Given the description of an element on the screen output the (x, y) to click on. 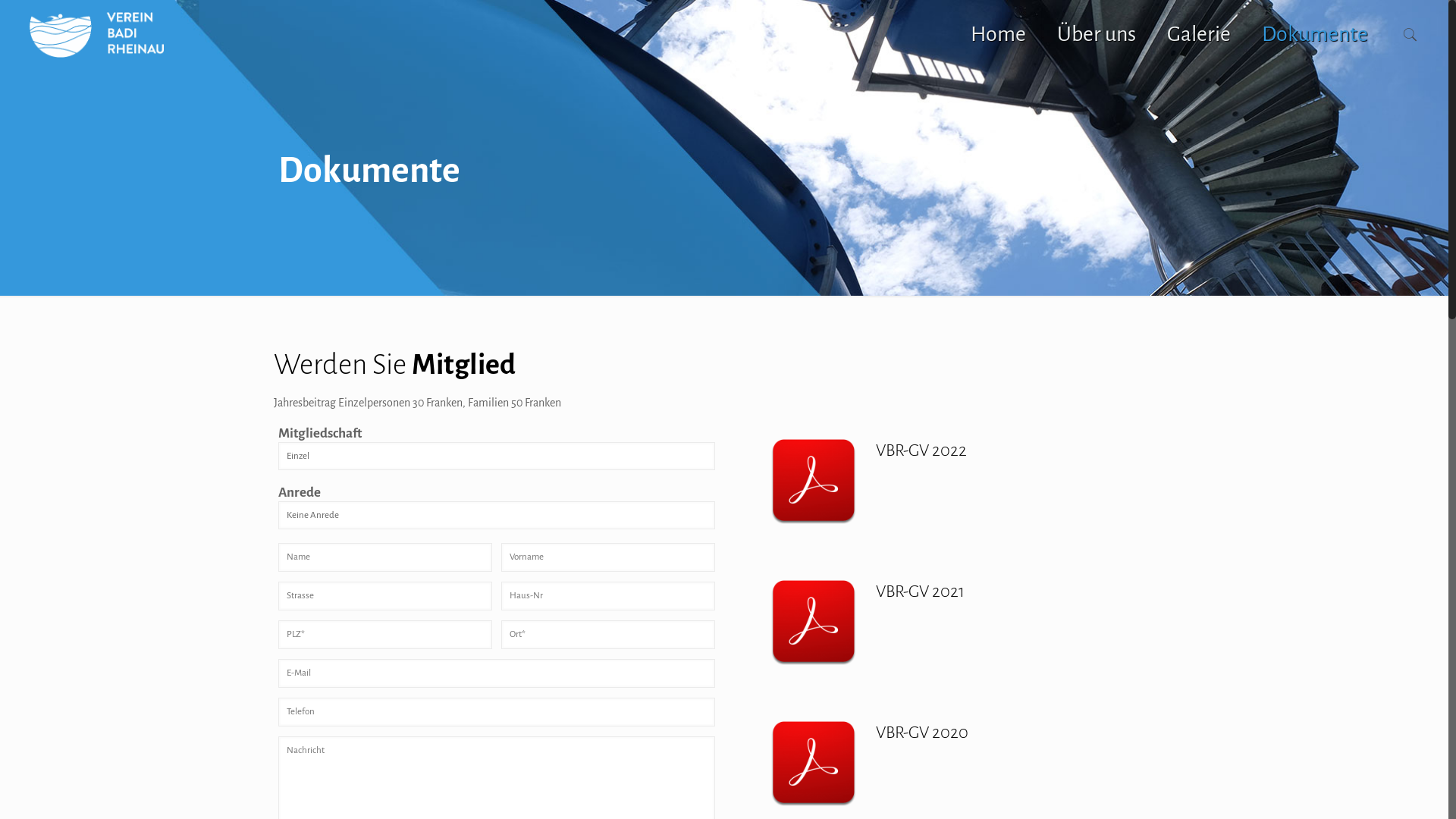
Badirheinau Element type: hover (96, 34)
VBR-GV 2021 Element type: text (1017, 587)
Galerie Element type: text (1198, 34)
VBR-GV 2020 Element type: text (1017, 728)
VBR-GV 2022 Element type: text (1017, 446)
Dokumente Element type: text (1314, 34)
Home Element type: text (998, 34)
